Given the description of an element on the screen output the (x, y) to click on. 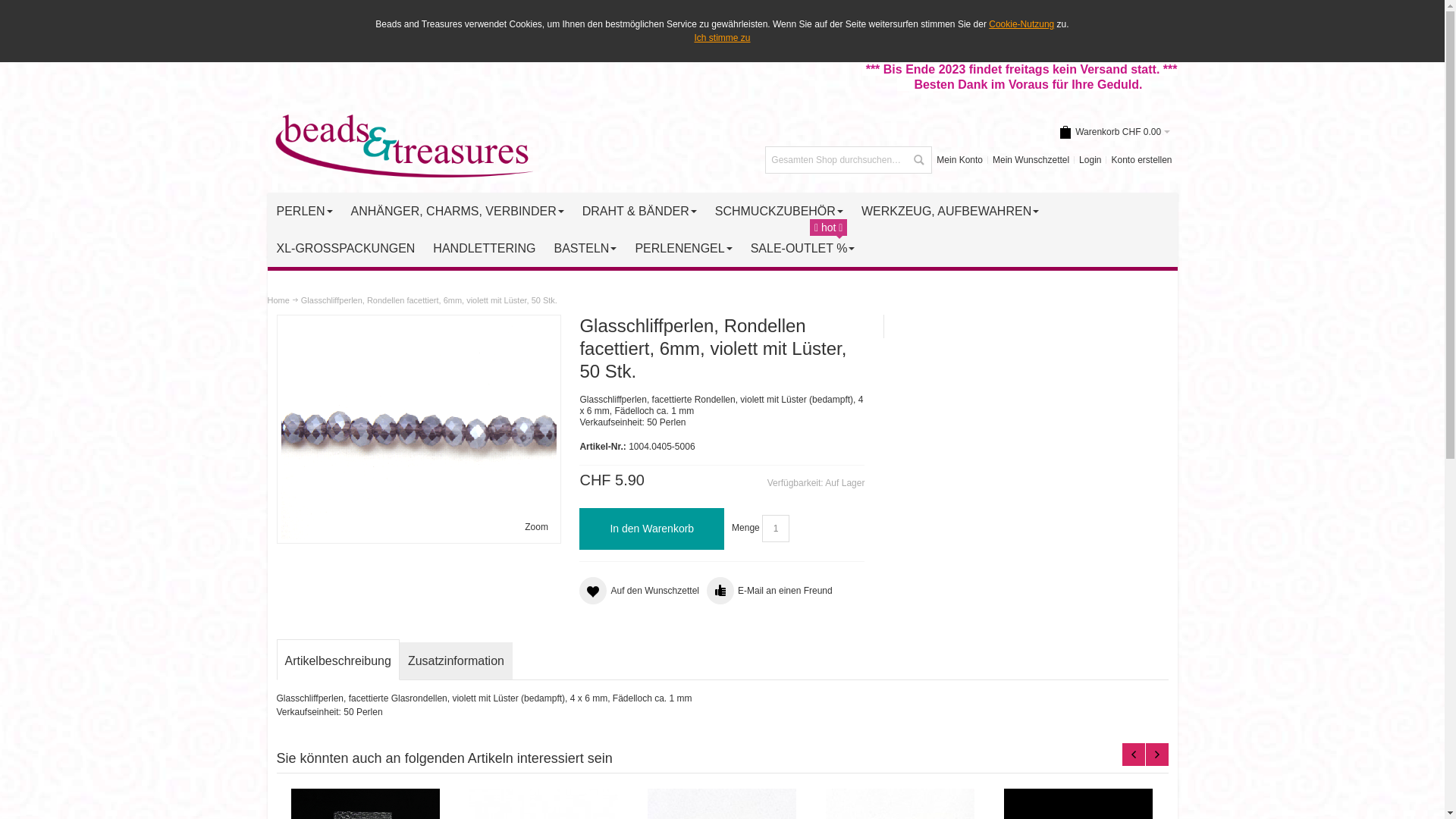
WERKZEUG, AUFBEWAHREN  Element type: text (950, 210)
XL-GROSSPACKUNGEN Element type: text (344, 247)
BASTELN  Element type: text (584, 247)
Login Element type: text (1089, 159)
Ich stimme zu Element type: text (721, 37)
Mein Wunschzettel Element type: text (1030, 159)
Auf den Wunschzettel Element type: text (639, 590)
Zusatzinformation Element type: text (455, 660)
In den Warenkorb Element type: text (651, 528)
Menge Element type: hover (775, 528)
Zoom Element type: text (536, 527)
PERLENENGEL  Element type: text (682, 247)
Mein Konto Element type: text (959, 159)
Suche Element type: hover (917, 159)
Konto erstellen Element type: text (1140, 159)
Schweizer Perlen Online Shop - BeadsAndTreasures.ch Element type: hover (399, 146)
Cookie-Nutzung Element type: text (1021, 23)
Artikelbeschreibung Element type: text (337, 659)
HANDLETTERING Element type: text (483, 247)
PERLEN  Element type: text (303, 210)
Home Element type: text (277, 300)
E-Mail an einen Freund Element type: text (769, 590)
